Given the description of an element on the screen output the (x, y) to click on. 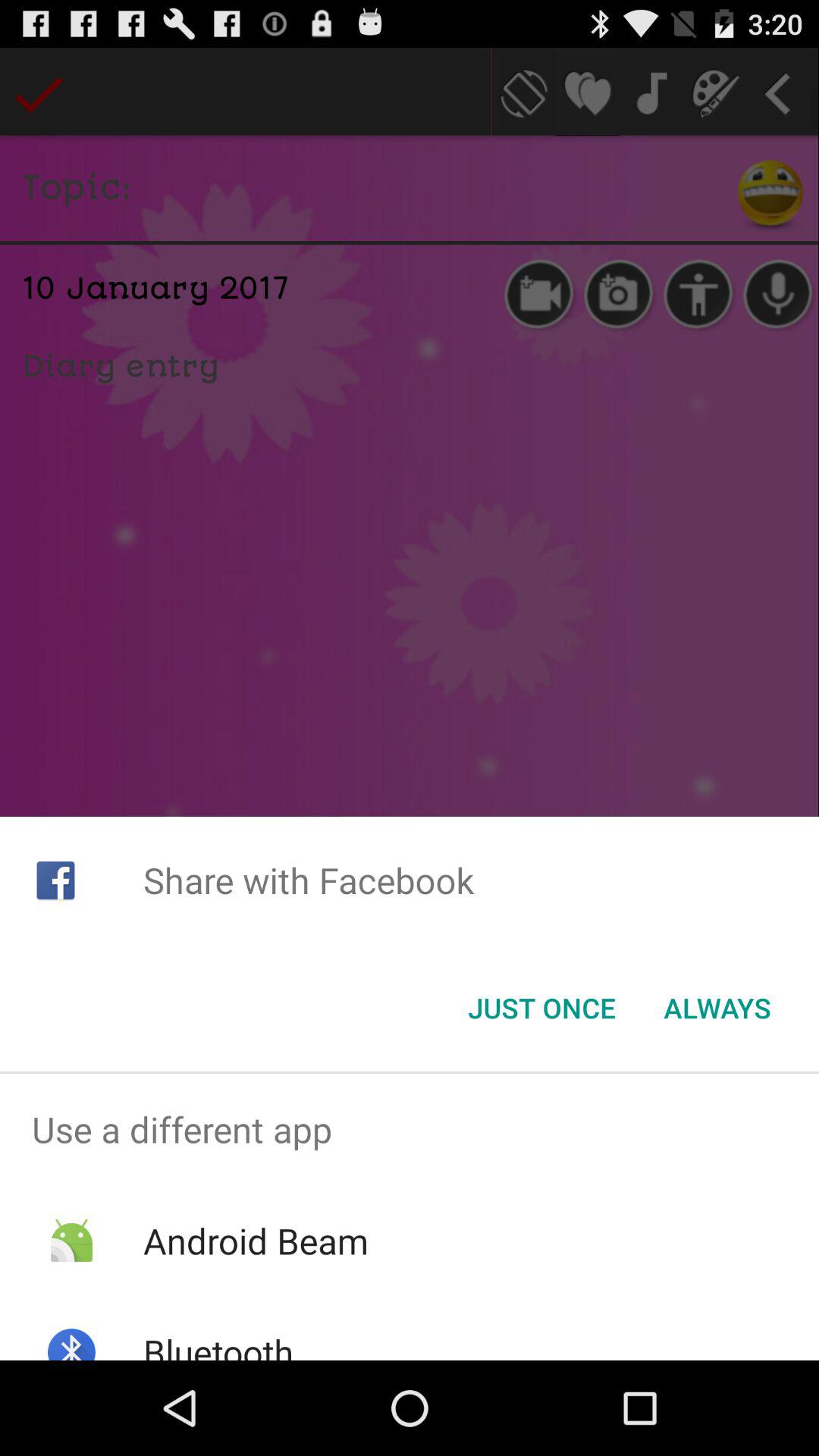
open item above android beam item (409, 1129)
